Given the description of an element on the screen output the (x, y) to click on. 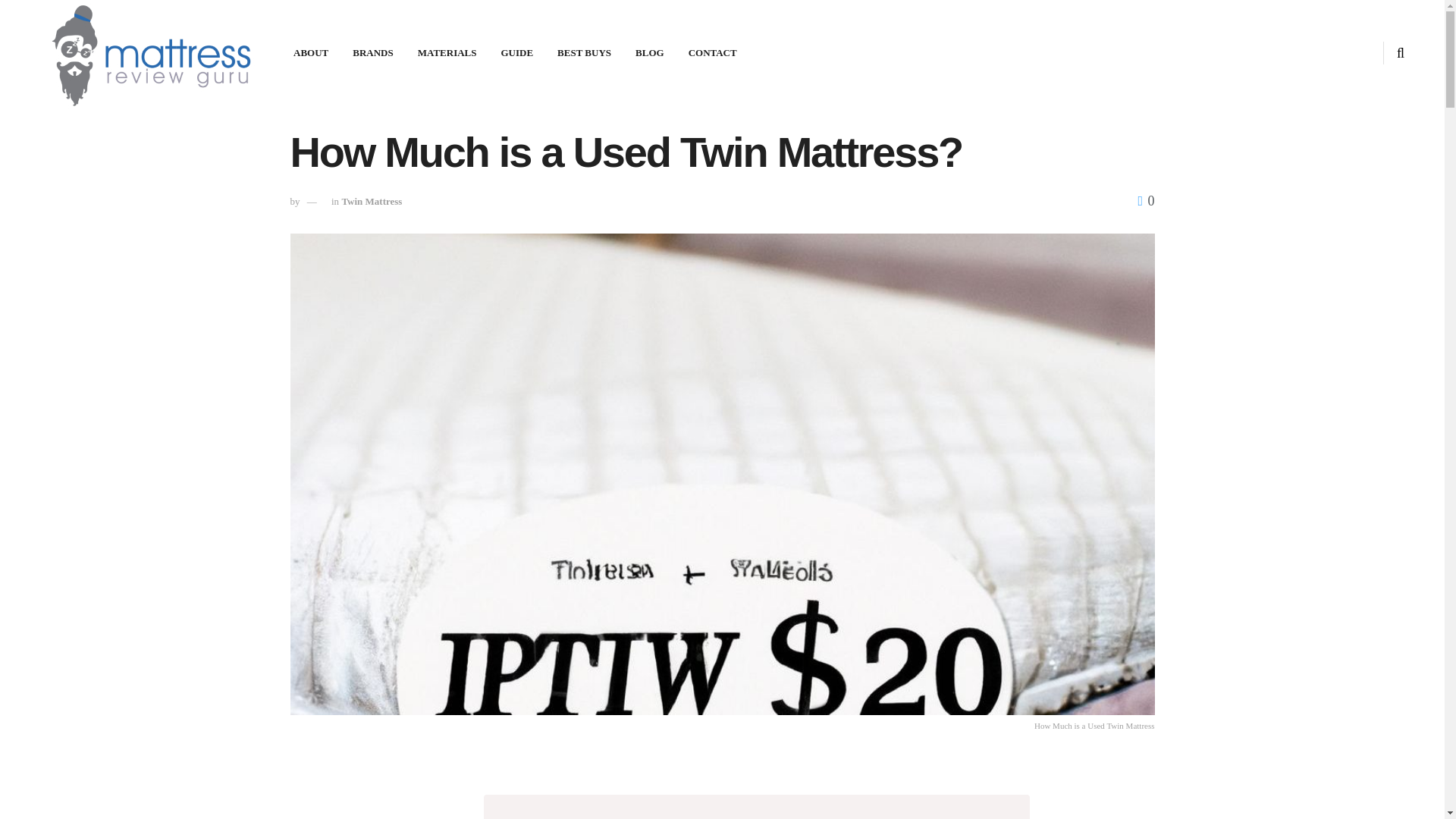
BRANDS (372, 53)
BEST BUYS (583, 53)
BLOG (650, 53)
CONTACT (713, 53)
ABOUT (310, 53)
GUIDE (515, 53)
Twin Mattress (370, 201)
0 (1145, 200)
MATERIALS (447, 53)
